Given the description of an element on the screen output the (x, y) to click on. 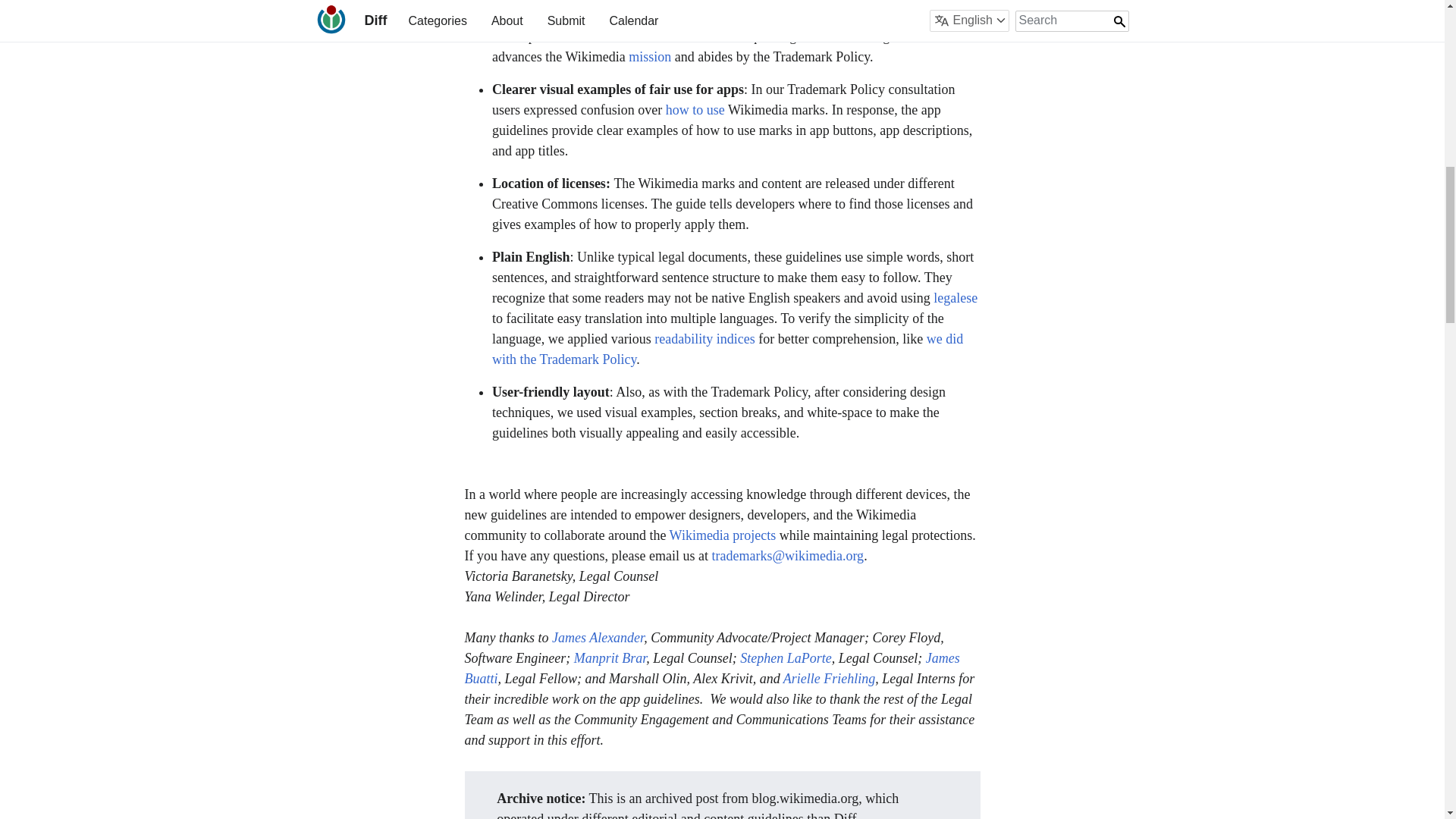
we did with the Trademark Policy (727, 348)
Manprit Brar (609, 657)
legalese (953, 297)
Wikimedia projects (722, 534)
how to use (695, 109)
James Buatti (711, 668)
Stephen LaPorte (785, 657)
Arielle Friehling (829, 678)
readability indices (703, 338)
mission (648, 56)
